Given the description of an element on the screen output the (x, y) to click on. 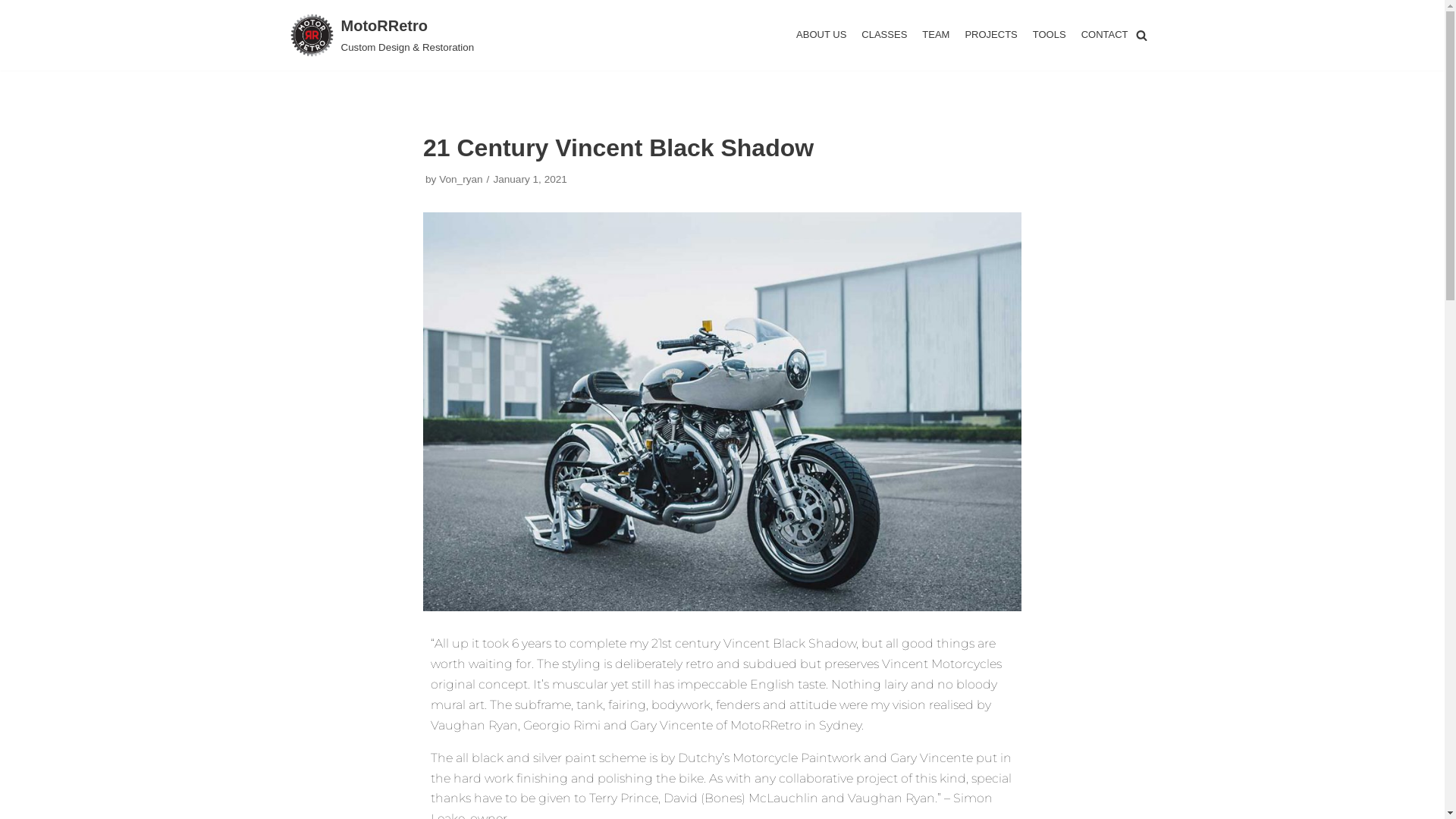
Skip to content Element type: text (15, 31)
PROJECTS Element type: text (990, 34)
CONTACT Element type: text (1104, 34)
Search Element type: text (1137, 409)
ABOUT US Element type: text (821, 34)
CLASSES Element type: text (883, 34)
TEAM Element type: text (935, 34)
MotoRRetro
Custom Design & Restoration Element type: text (381, 34)
Von_ryan Element type: text (460, 179)
TOOLS Element type: text (1049, 34)
